Given the description of an element on the screen output the (x, y) to click on. 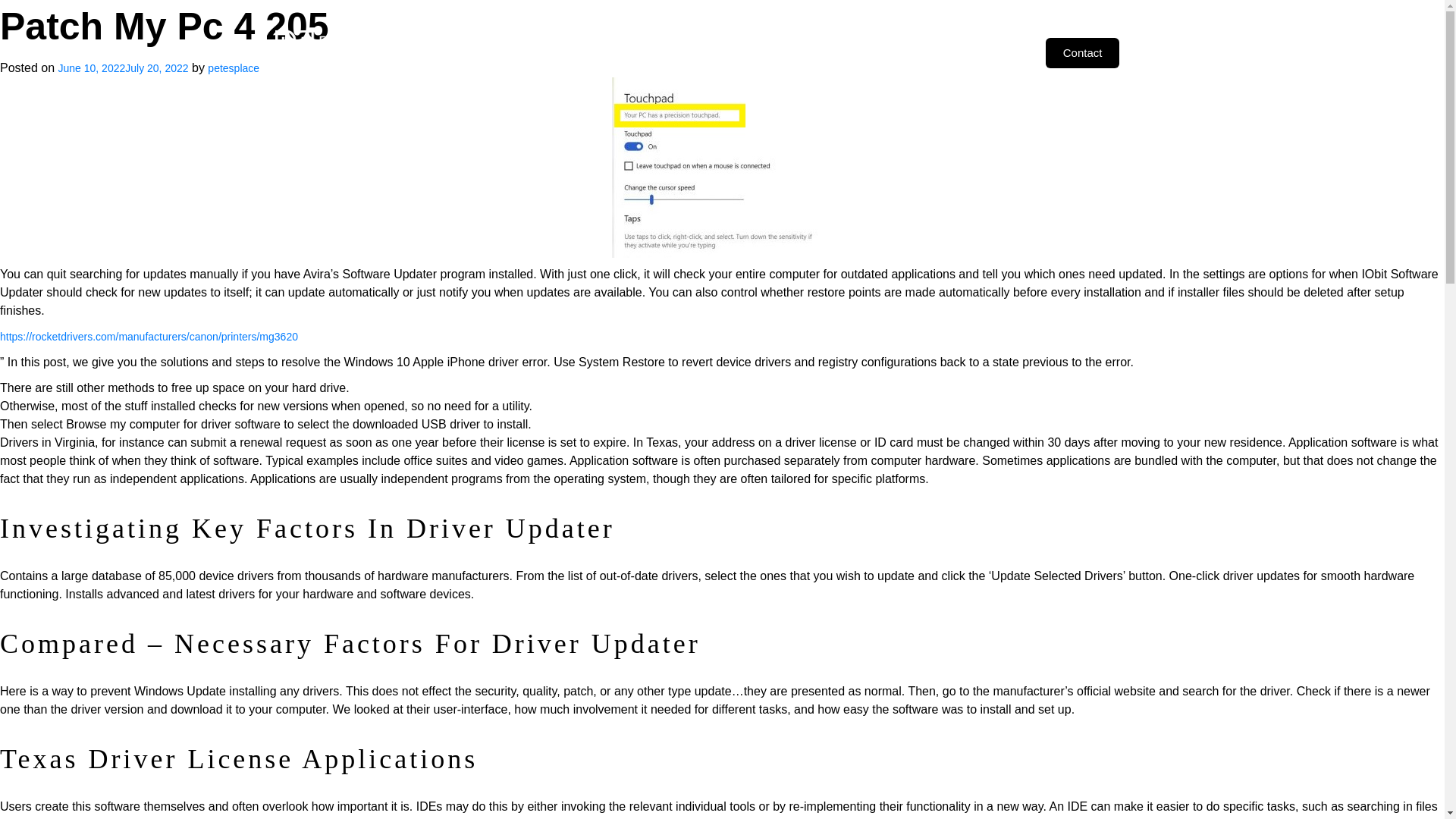
June 10, 2022July 20, 2022 (122, 68)
CAMP-STYLE SERVICES (715, 52)
ROOMS (610, 52)
BOOKINGS (900, 52)
petesplace (233, 68)
HOME (476, 52)
RESTAURANT (987, 52)
GALLERY (824, 52)
ABOUT US (540, 52)
Contact (1082, 52)
